Given the description of an element on the screen output the (x, y) to click on. 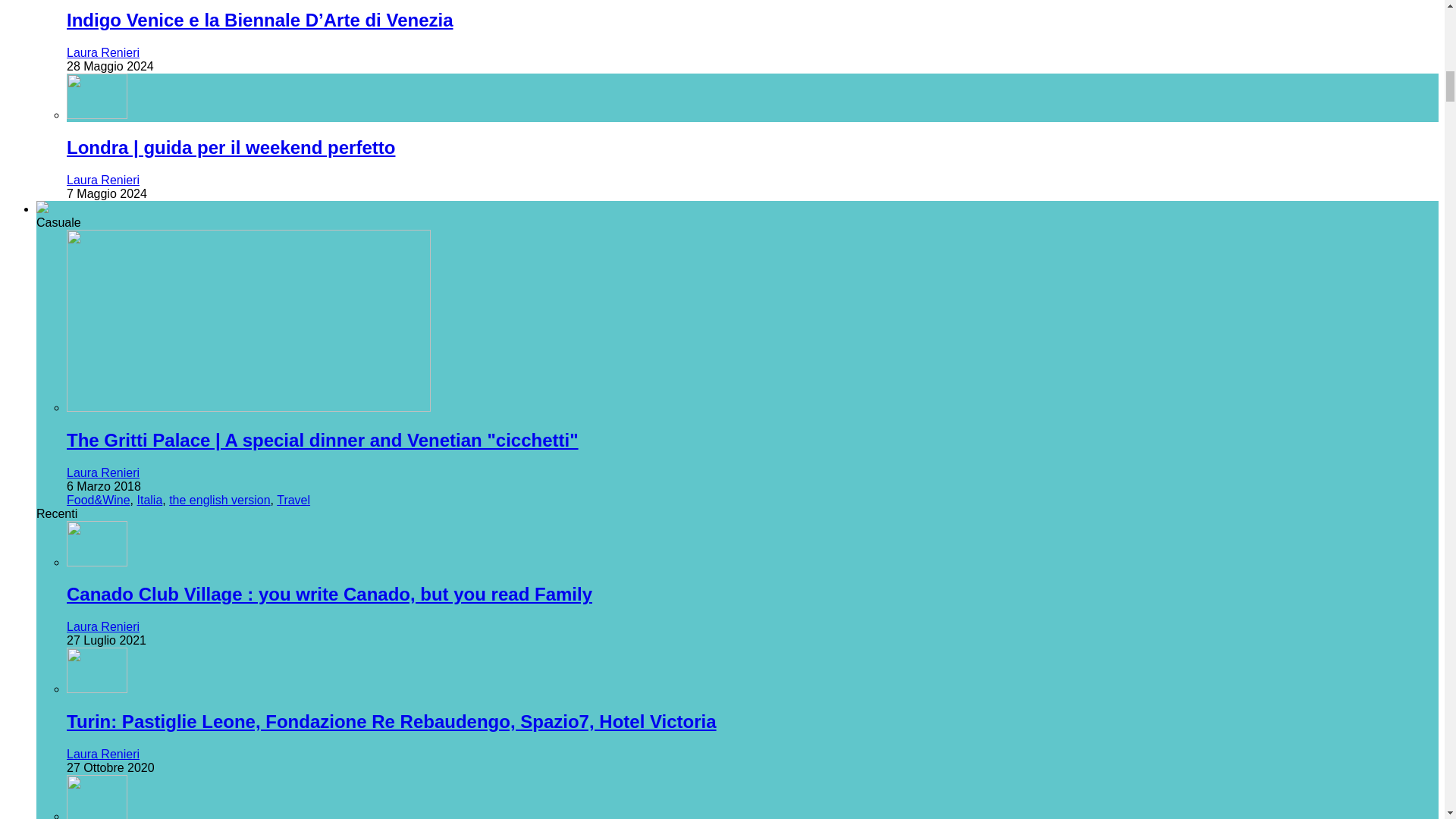
Guarda tutti i post in Travel (293, 499)
Guarda tutti i post in Italia (148, 499)
Guarda tutti i post in the english version (218, 499)
